Given the description of an element on the screen output the (x, y) to click on. 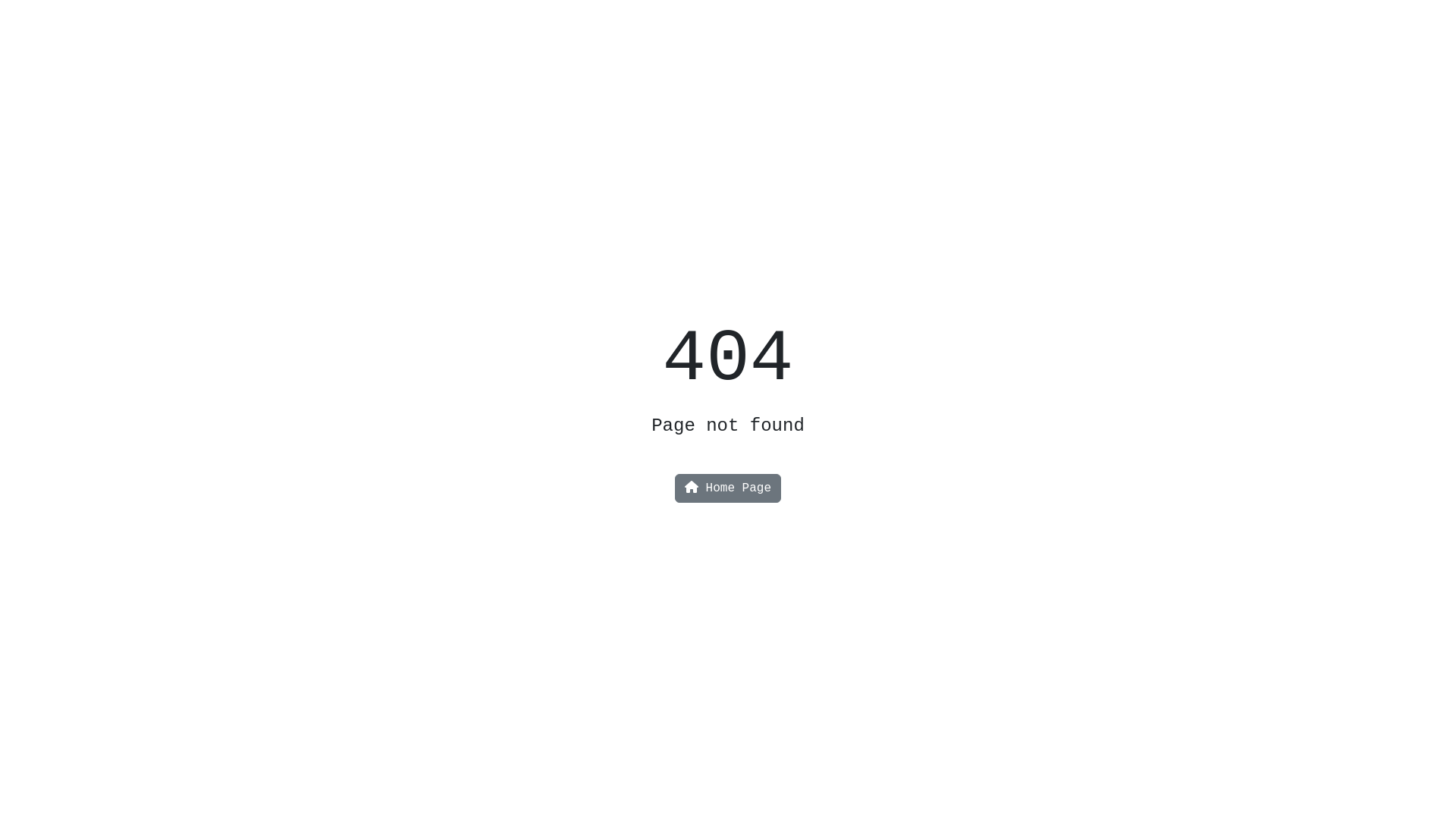
Home Page Element type: text (727, 487)
